Given the description of an element on the screen output the (x, y) to click on. 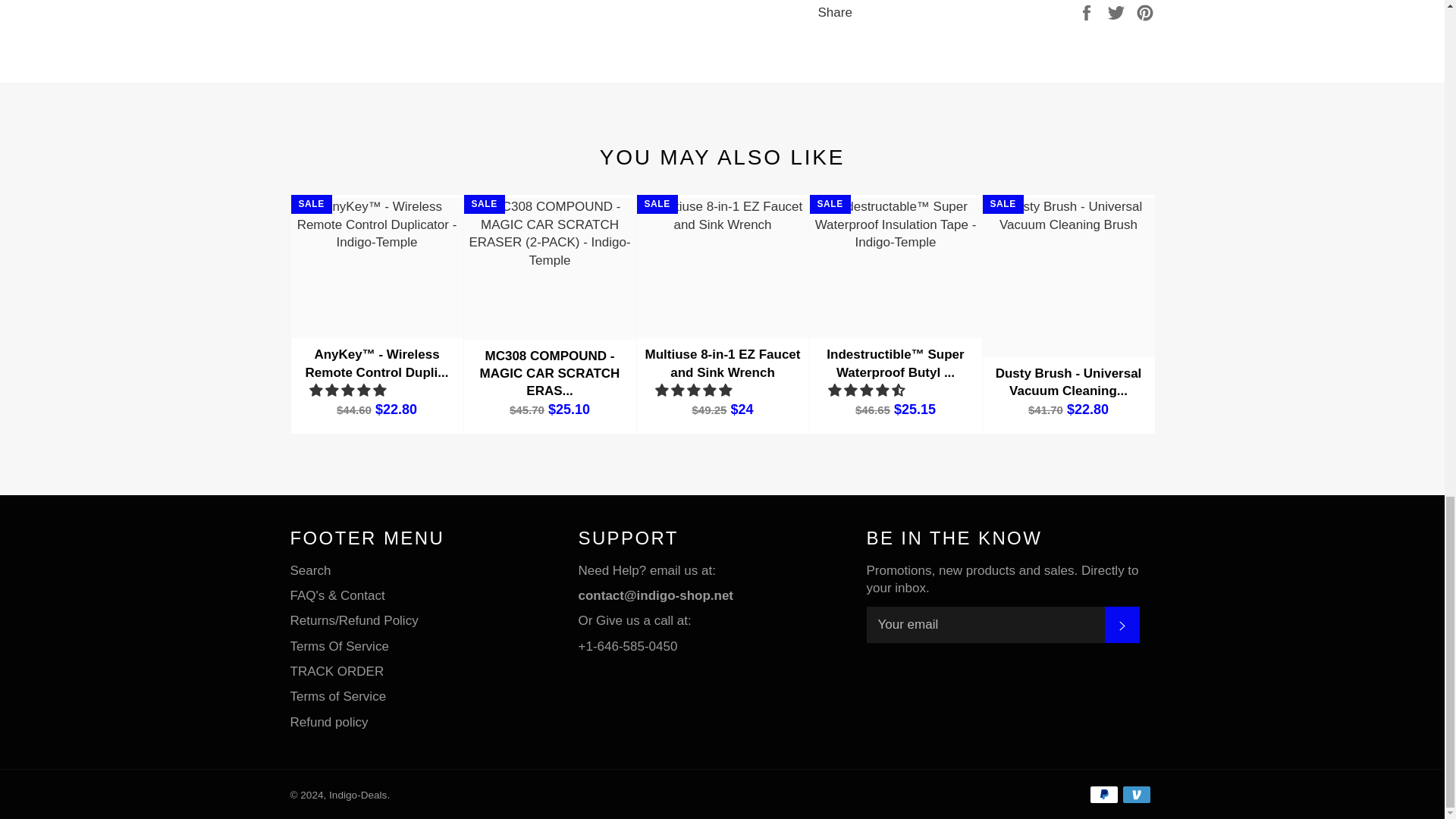
Share on Facebook (1088, 11)
Tweet on Twitter (1117, 11)
Pin on Pinterest (1144, 11)
